Given the description of an element on the screen output the (x, y) to click on. 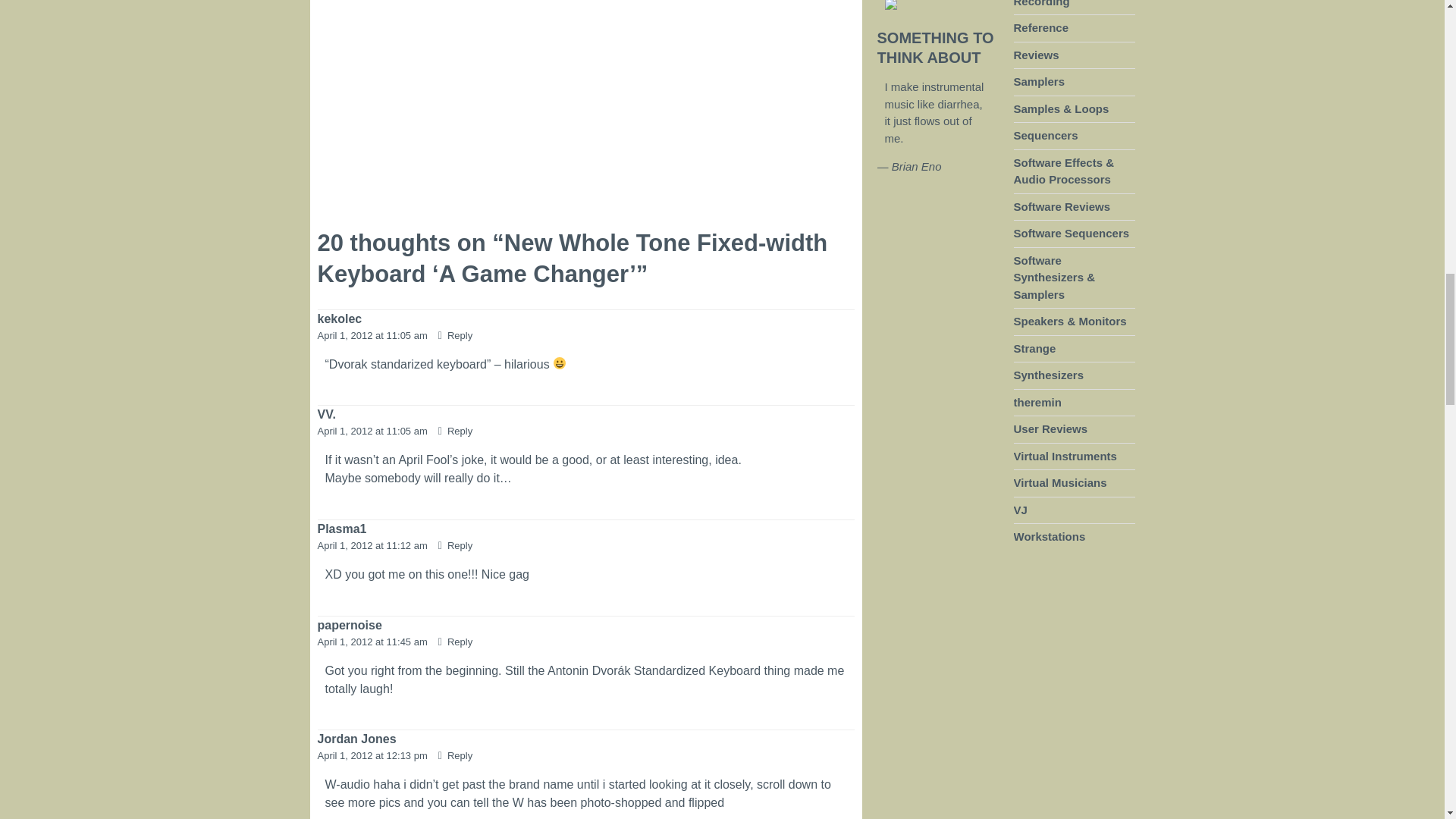
Reply (454, 755)
April 1, 2012 at 11:05 am (373, 430)
Reply (454, 545)
Gear and software reviews by Synthtopia readers. (1050, 428)
Reply (454, 335)
April 1, 2012 at 12:13 pm (373, 755)
April 1, 2012 at 11:12 am (373, 545)
April 1, 2012 at 11:45 am (373, 641)
Plasma1 (341, 528)
Reply (454, 641)
papernoise (349, 625)
April 1, 2012 at 11:05 am (373, 335)
Reply (454, 430)
3rd party ad content (445, 121)
